Given the description of an element on the screen output the (x, y) to click on. 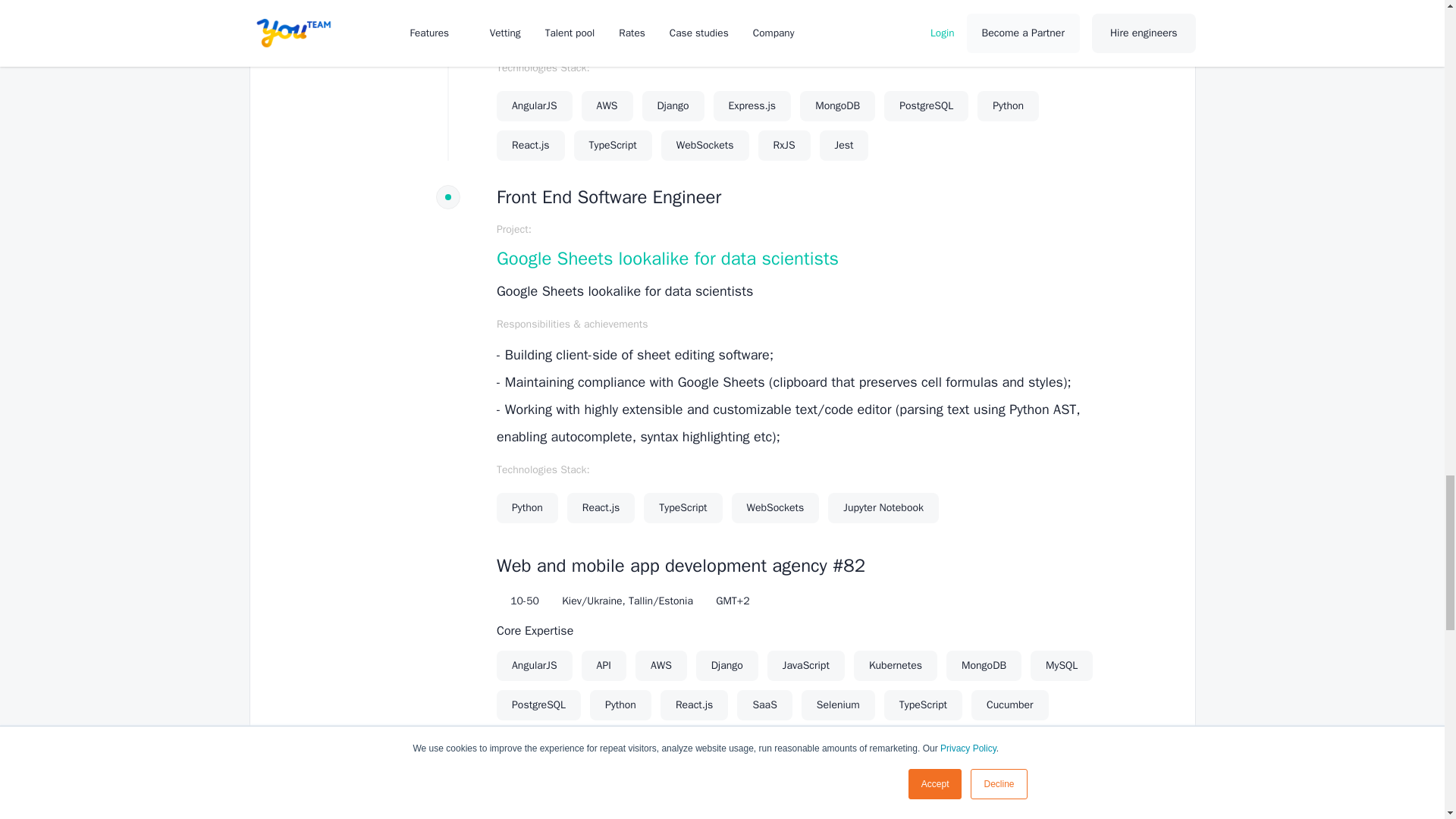
Person User (501, 602)
Location Map Pin (553, 602)
Main Clock (707, 602)
